Given the description of an element on the screen output the (x, y) to click on. 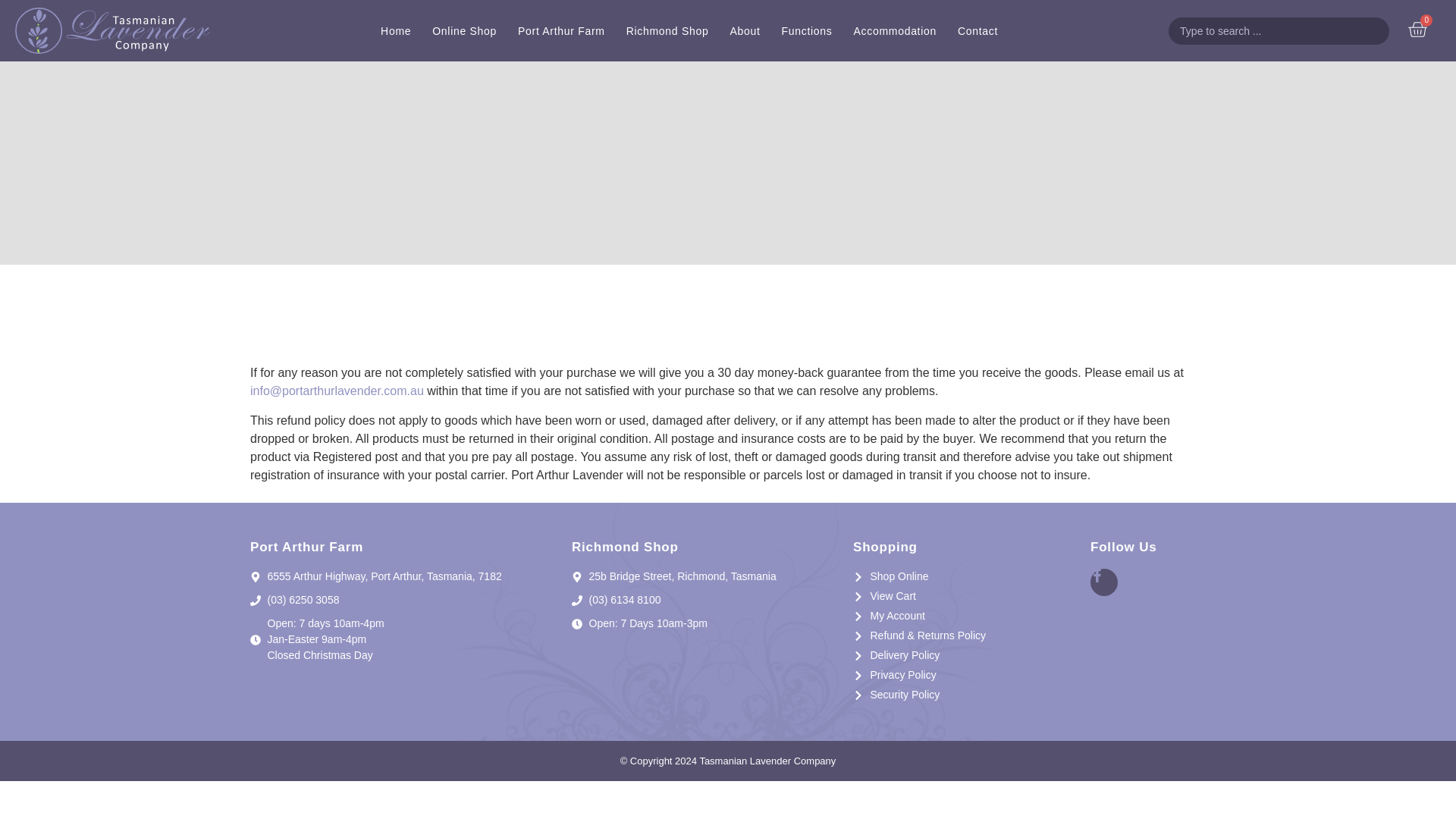
Accommodation (895, 31)
Port Arthur Farm (560, 31)
Page 4 (727, 423)
Online Shop (464, 31)
Functions (807, 31)
Contact (978, 31)
Home (395, 31)
Richmond Shop (667, 31)
About (744, 31)
